Given the description of an element on the screen output the (x, y) to click on. 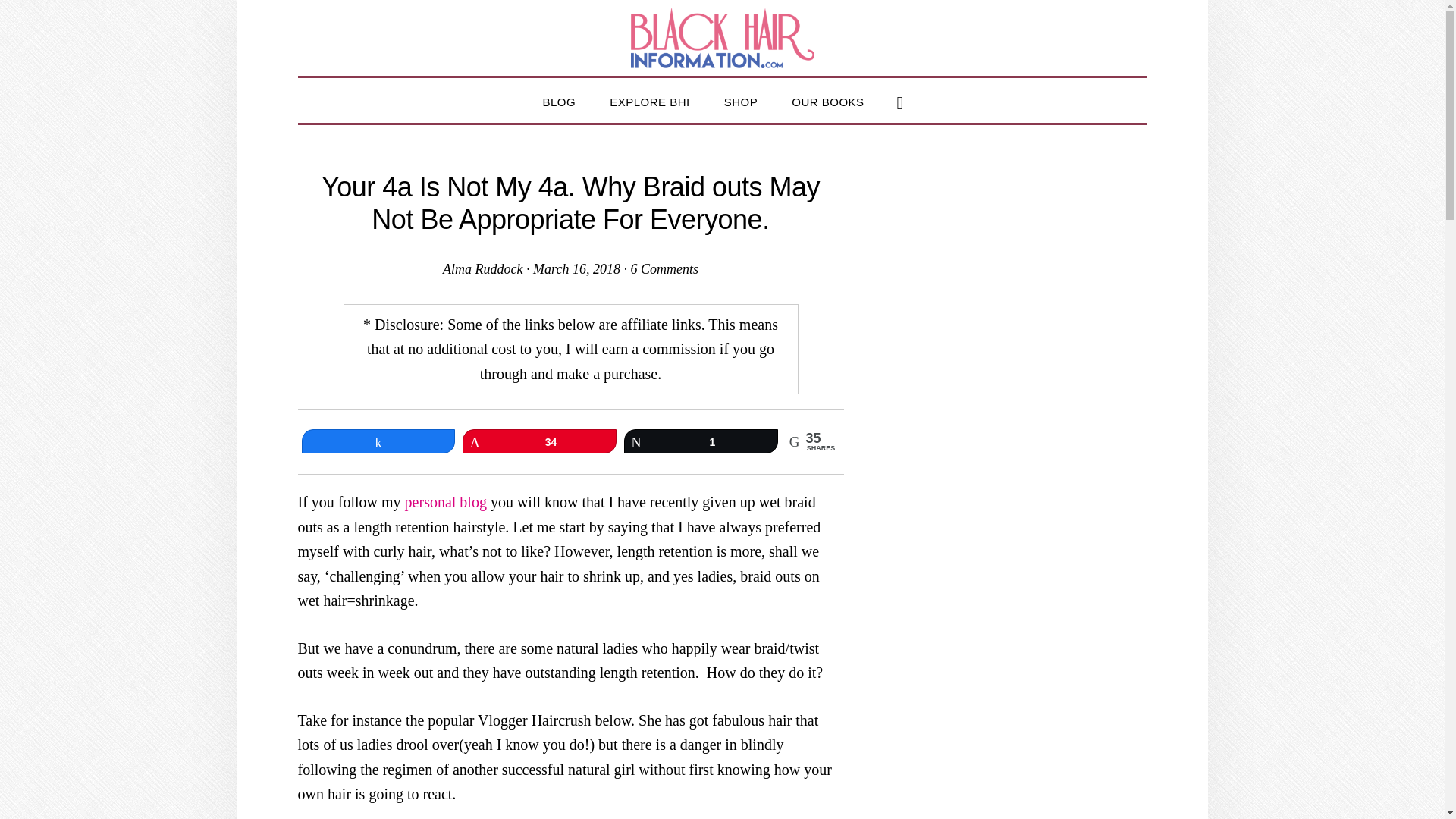
EXPLORE BHI (649, 99)
BLOG (559, 99)
BLACK HAIR INFORMATION (721, 37)
SHOP (741, 99)
